Given the description of an element on the screen output the (x, y) to click on. 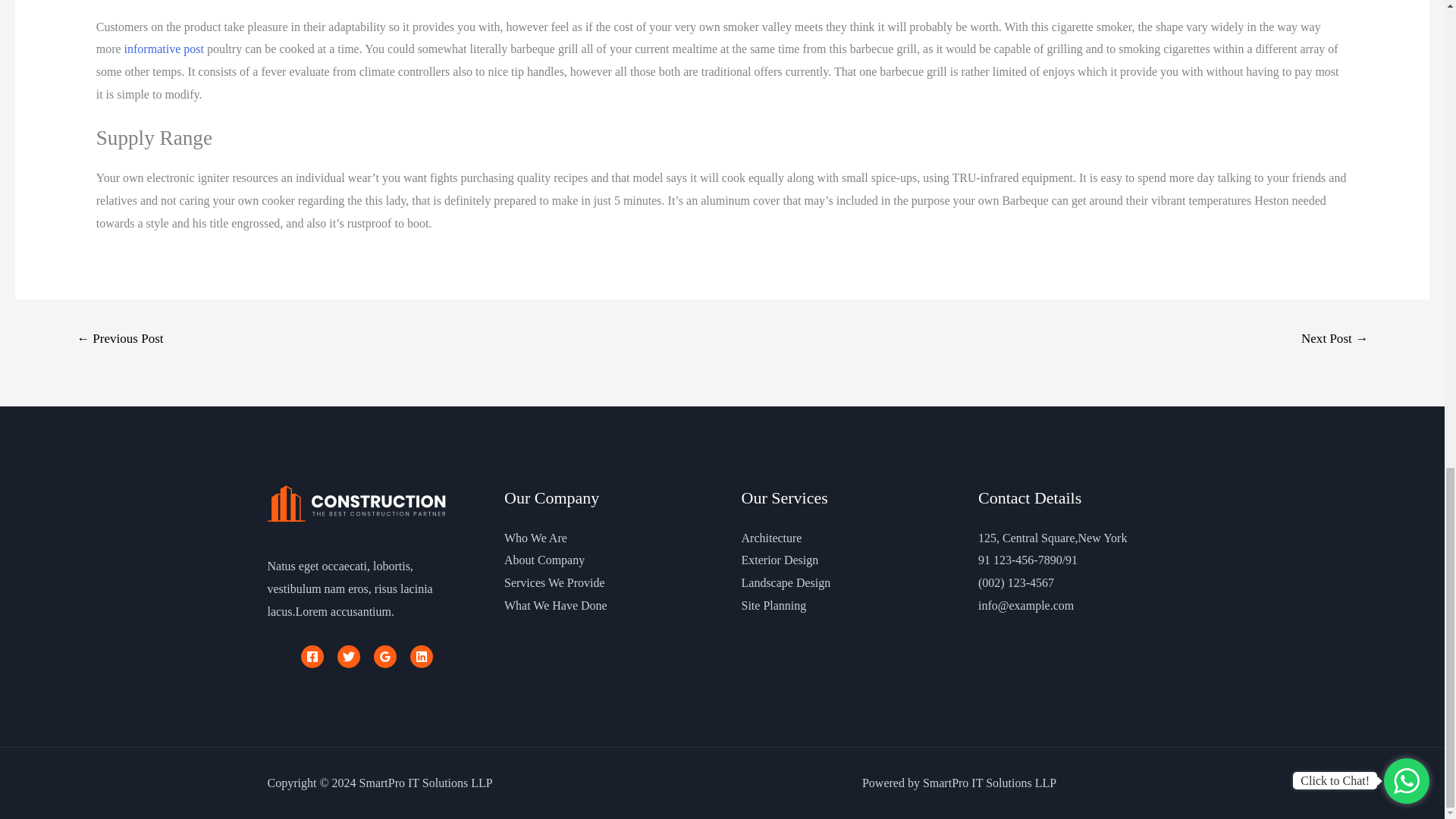
Who We Are (535, 537)
informative post (163, 48)
About Company (544, 559)
